Given the description of an element on the screen output the (x, y) to click on. 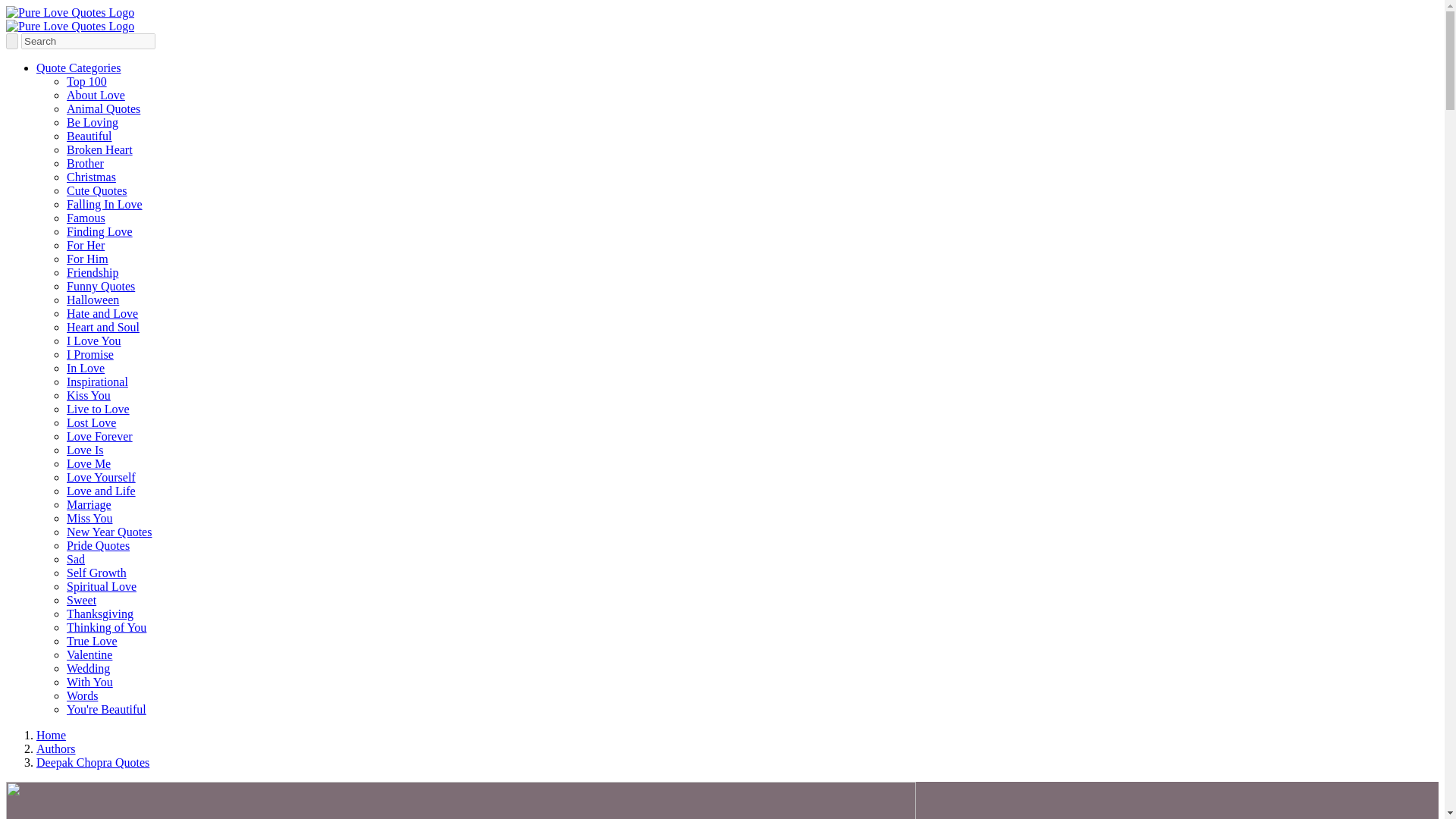
Finding Love (99, 231)
Live to Love (97, 408)
Halloween (92, 299)
Christmas (91, 176)
I Love You (93, 340)
Quote Categories (78, 67)
Miss You (89, 517)
Hate and Love (102, 313)
Heart and Soul (102, 327)
Brother (84, 163)
In Love (85, 367)
I Promise (89, 354)
Love and Life (100, 490)
Funny Quotes (100, 286)
Friendship (91, 272)
